Given the description of an element on the screen output the (x, y) to click on. 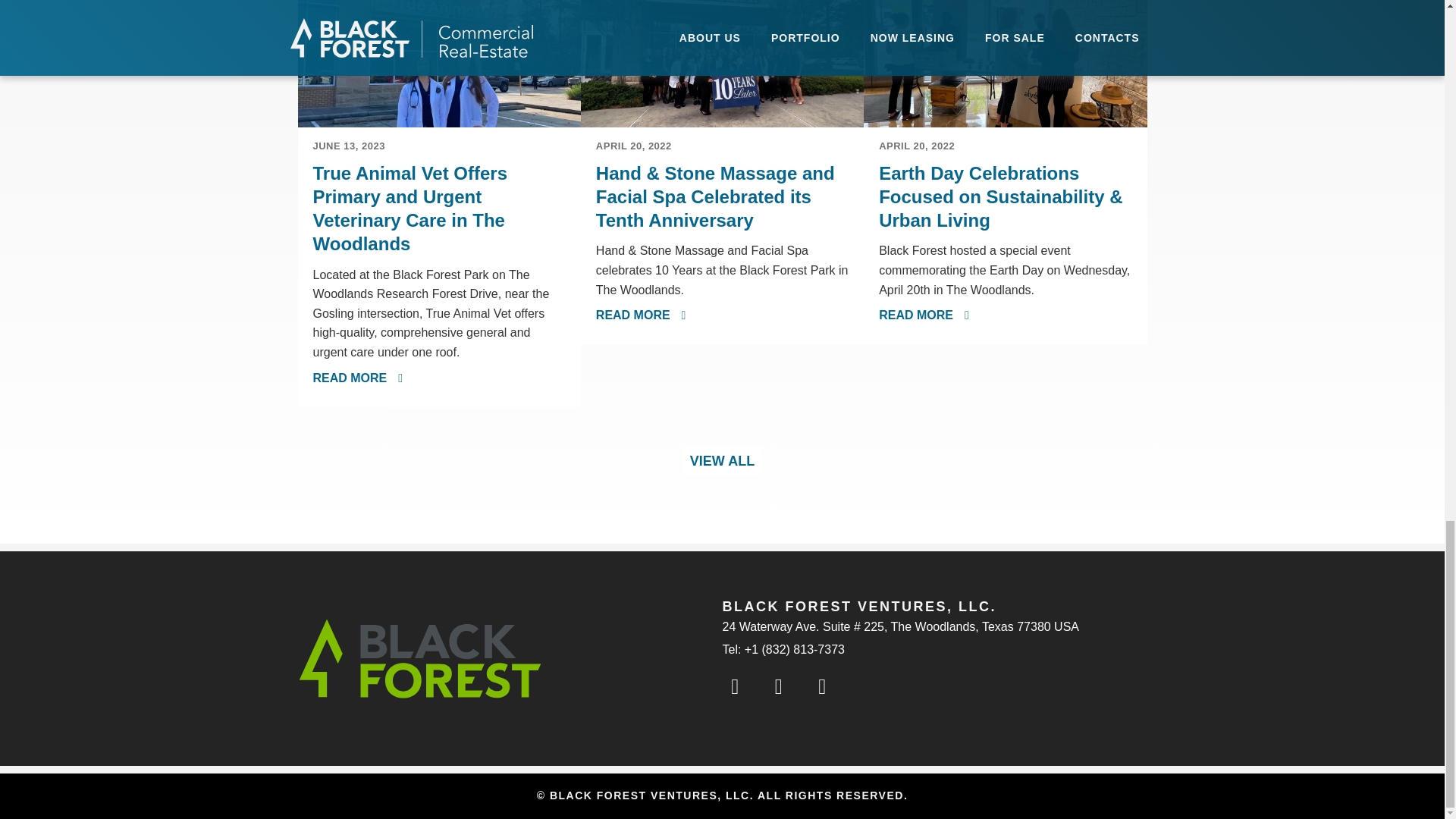
READ MORE (358, 378)
READ MORE (640, 315)
TrueVet (438, 63)
